Given the description of an element on the screen output the (x, y) to click on. 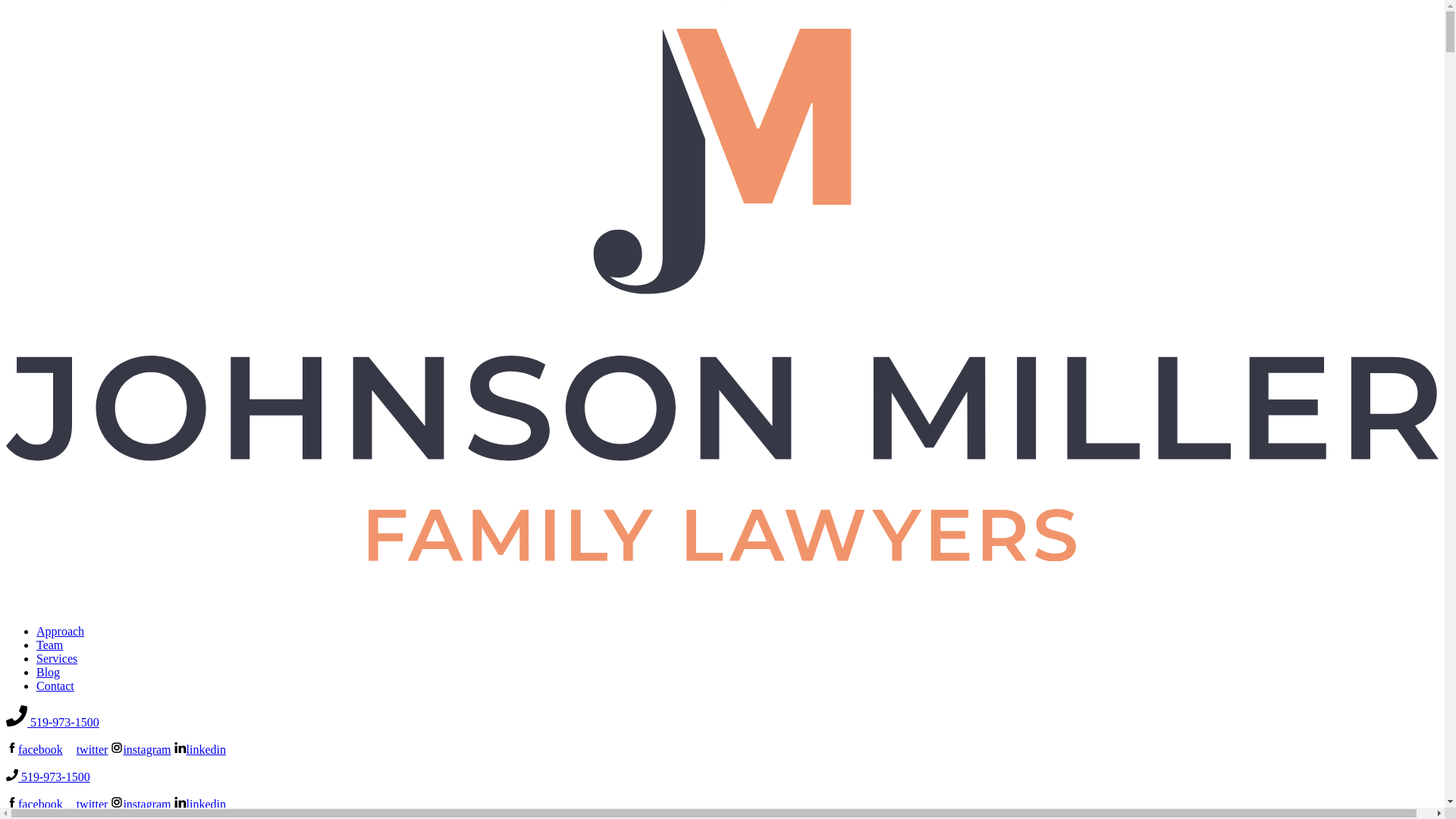
facebook (33, 748)
Approach (60, 631)
linkedin (199, 803)
Services (56, 658)
twitter (86, 748)
twitter (86, 803)
instagram (140, 803)
Contact (55, 685)
instagram (140, 748)
519-973-1500 (52, 721)
Blog (47, 671)
Team (49, 644)
519-973-1500 (47, 776)
facebook (33, 803)
linkedin (199, 748)
